Given the description of an element on the screen output the (x, y) to click on. 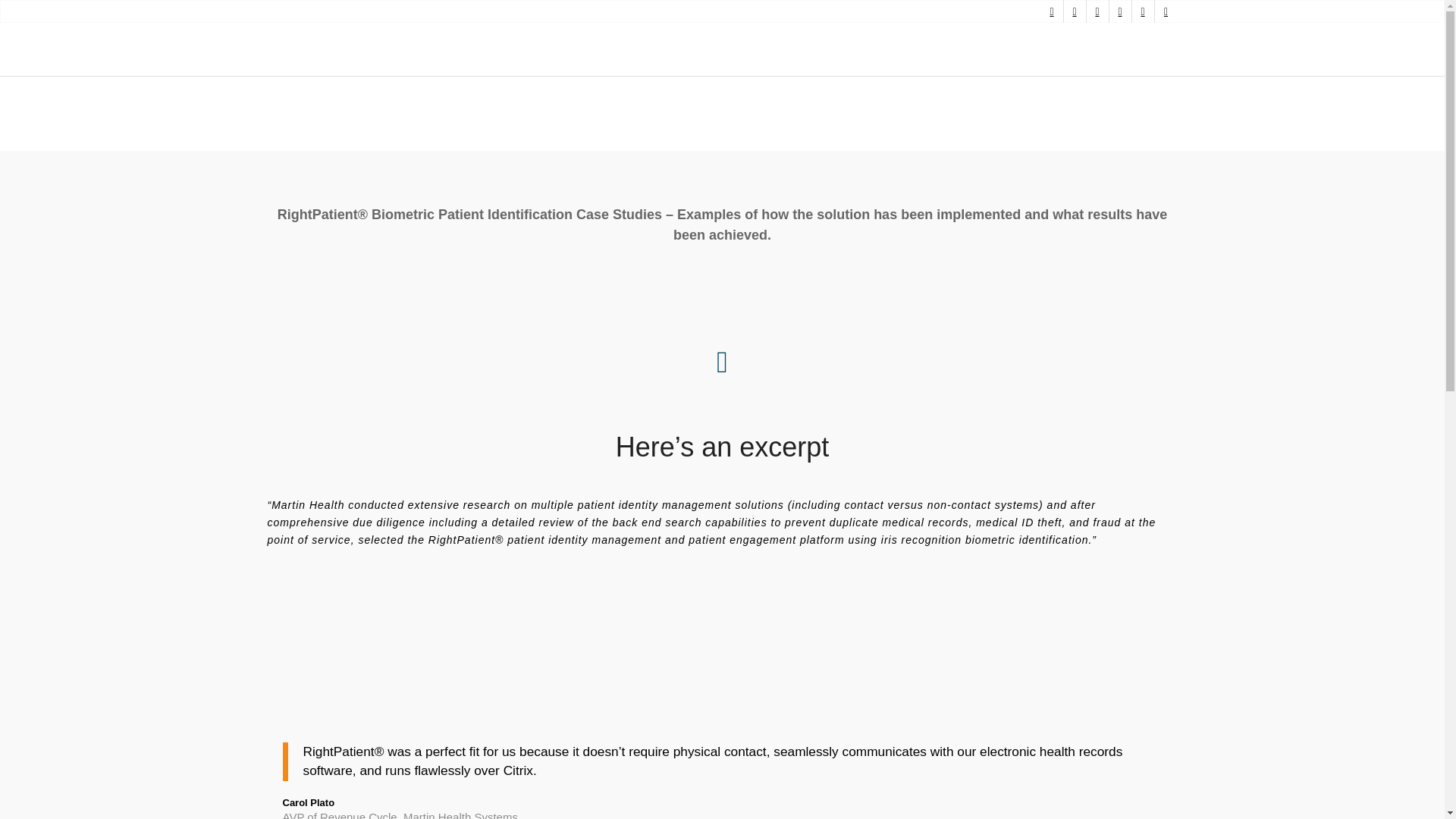
Linkedin (1119, 11)
Twitter (1051, 11)
Rss (1142, 11)
Facebook (1097, 11)
Youtube (1073, 11)
Mail (1165, 11)
Martin Health Case Study (721, 656)
